Given the description of an element on the screen output the (x, y) to click on. 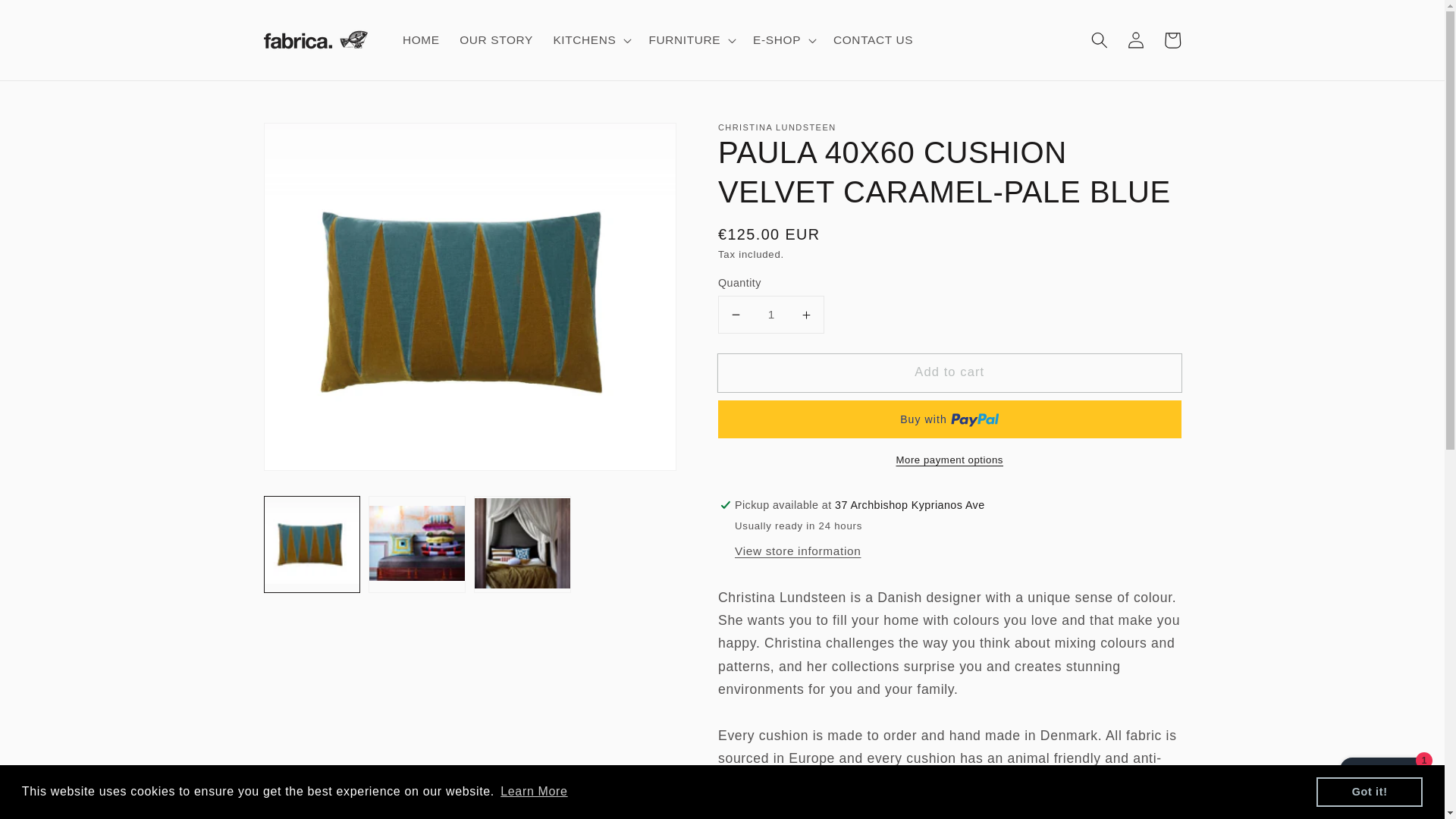
Got it! (1369, 791)
Learn More (533, 791)
Shopify online store chat (1383, 781)
Skip to content (49, 18)
1 (770, 314)
